Given the description of an element on the screen output the (x, y) to click on. 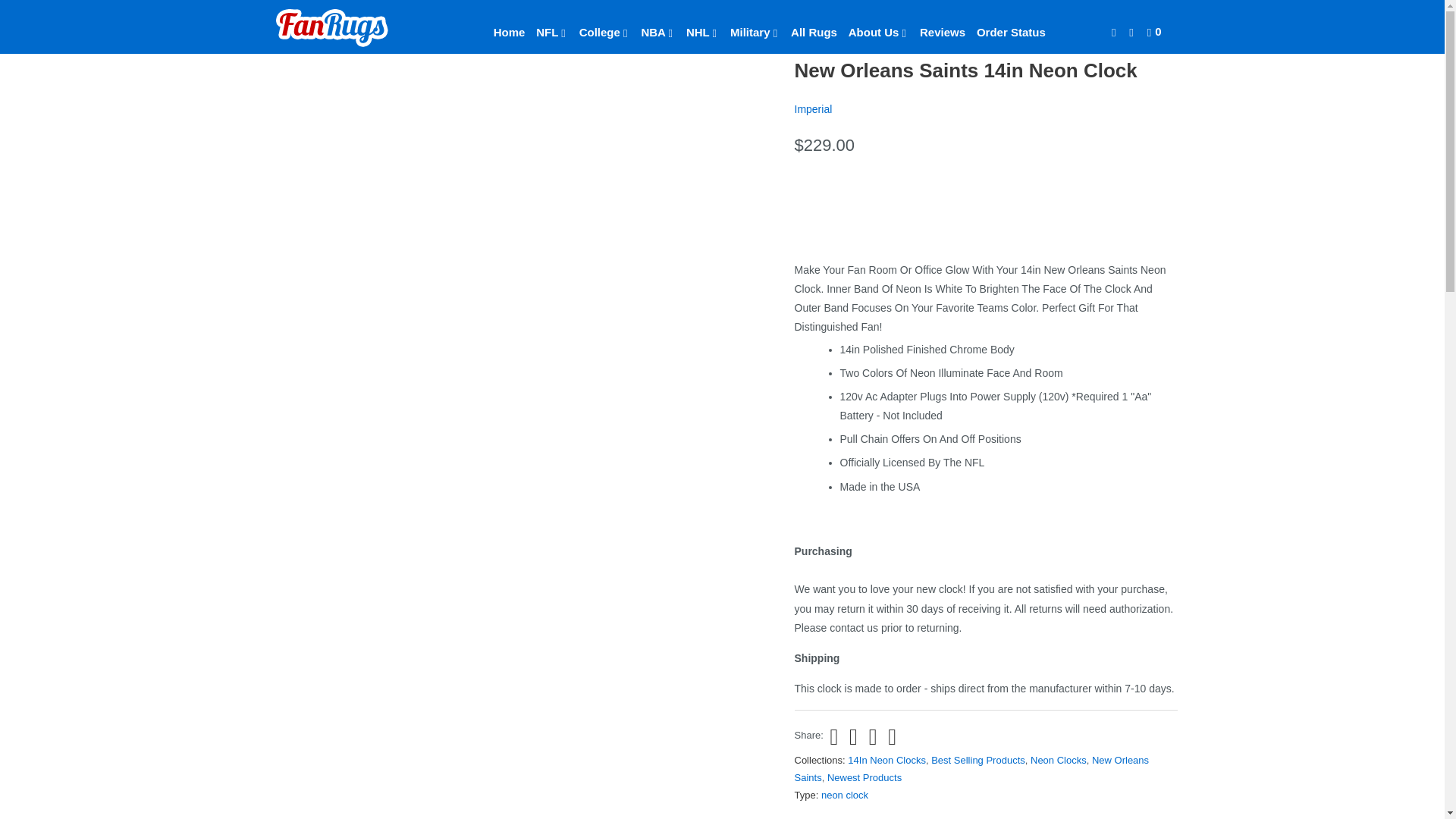
Fan Rugs (288, 30)
Products (329, 30)
14In Neon Clocks (886, 759)
Fan Rugs (352, 26)
Imperial (813, 109)
